Given the description of an element on the screen output the (x, y) to click on. 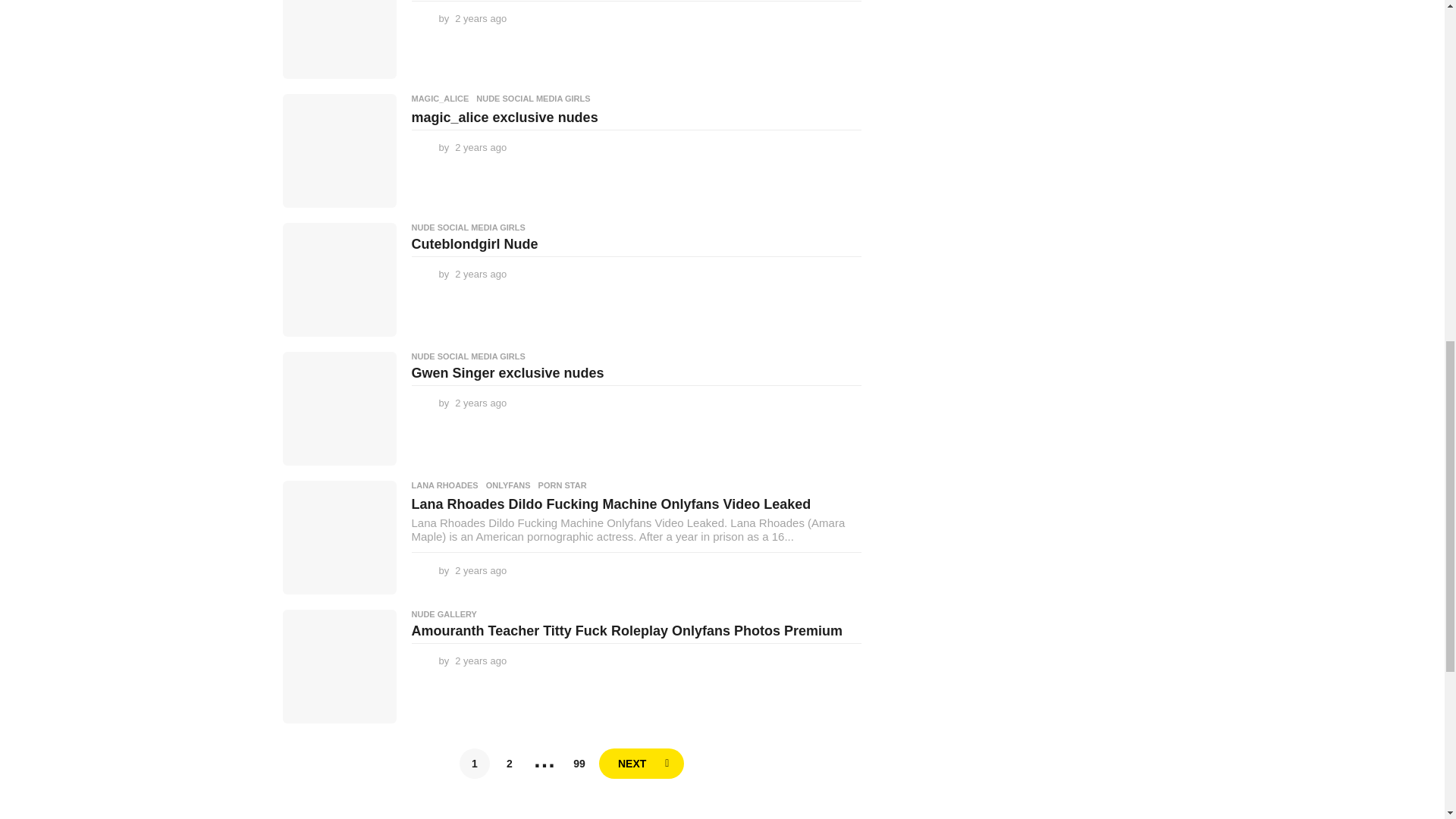
Gwen Singer exclusive nudes (339, 409)
Cuteblondgirl Nude (339, 279)
Lana Rhoades Dildo Fucking Machine Onlyfans Video Leaked (339, 537)
Karmenkarma exclusive nudes (339, 39)
